Given the description of an element on the screen output the (x, y) to click on. 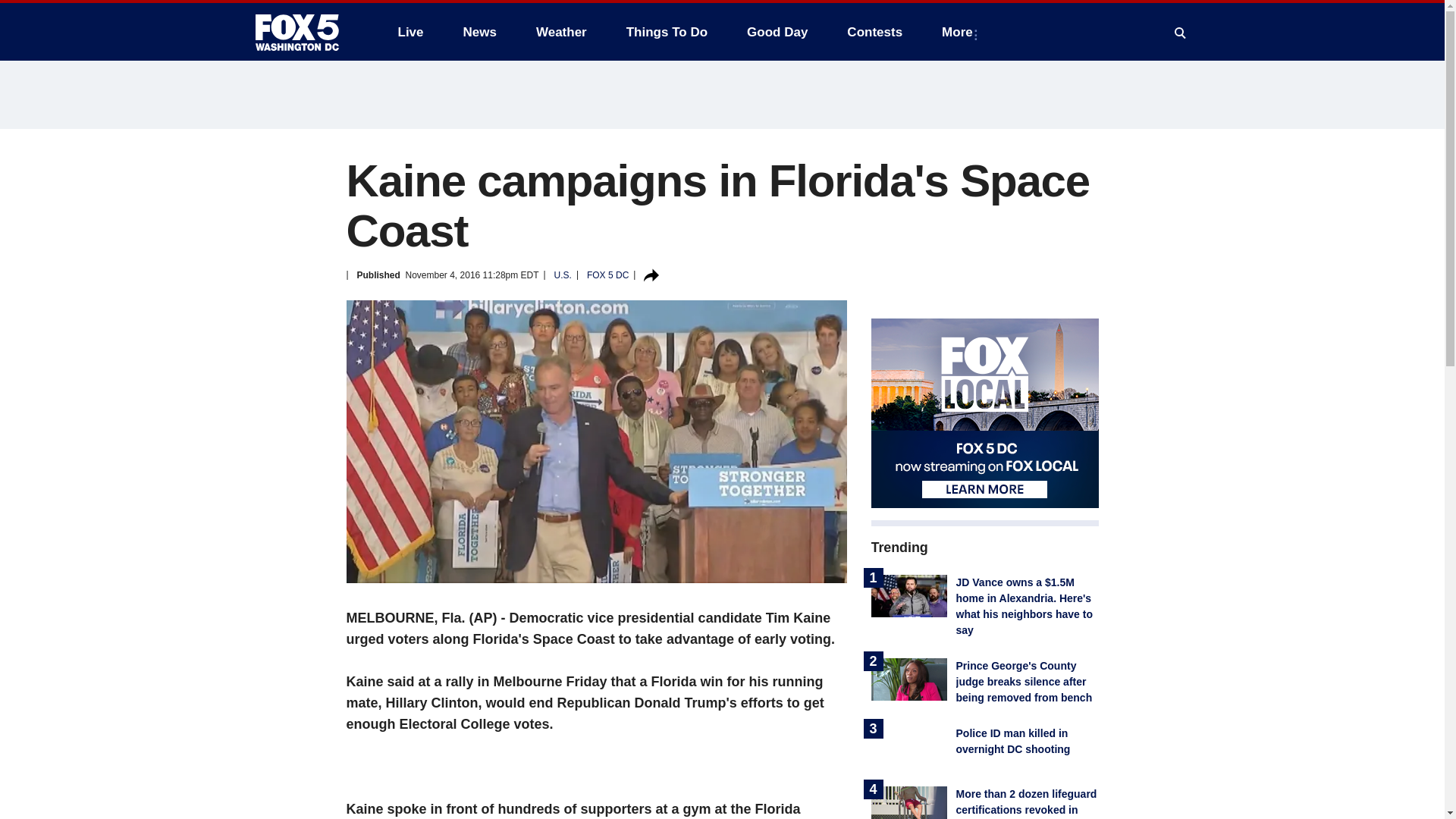
Things To Do (666, 32)
Weather (561, 32)
Contests (874, 32)
Good Day (777, 32)
News (479, 32)
More (960, 32)
Live (410, 32)
